Given the description of an element on the screen output the (x, y) to click on. 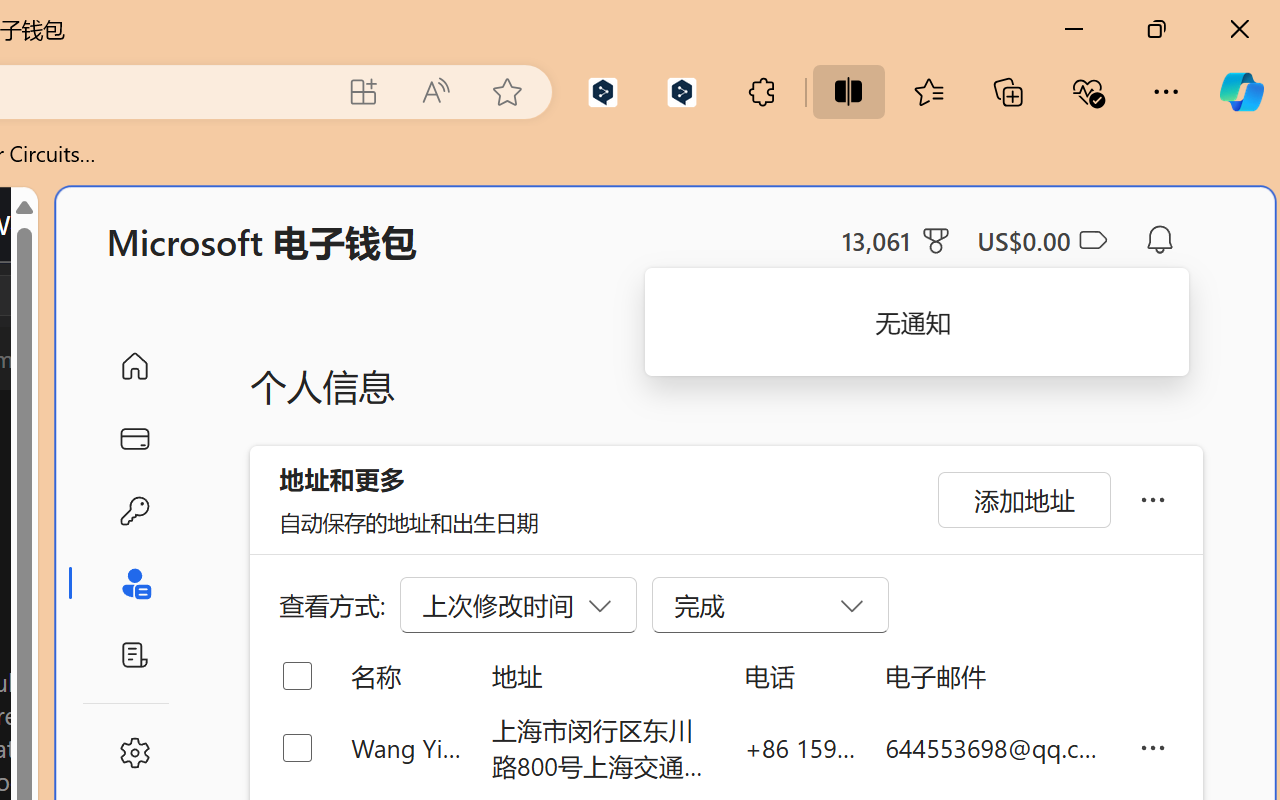
Microsoft Cashback - US$0.00 (1041, 240)
644553698@qq.com (996, 747)
Copilot (Ctrl+Shift+.) (1241, 91)
+86 159 0032 4640 (799, 747)
Wang Yian (406, 747)
